Given the description of an element on the screen output the (x, y) to click on. 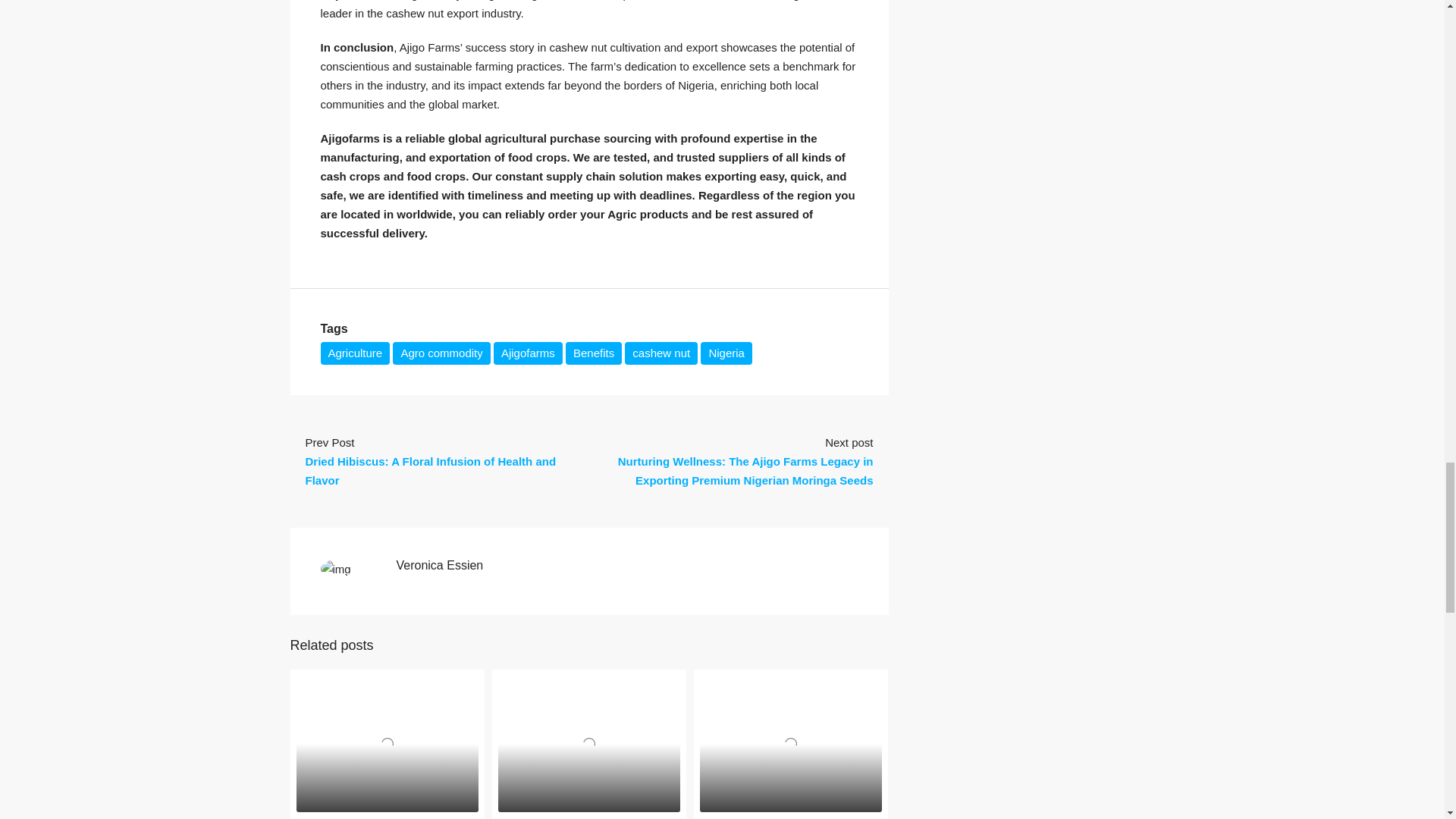
Benefits (593, 353)
cashew nut (660, 353)
Agriculture (355, 353)
Agro commodity (441, 353)
Ajigofarms (527, 353)
Dried Hibiscus: A Floral Infusion of Health and Flavor (430, 470)
Nigeria (726, 353)
